Given the description of an element on the screen output the (x, y) to click on. 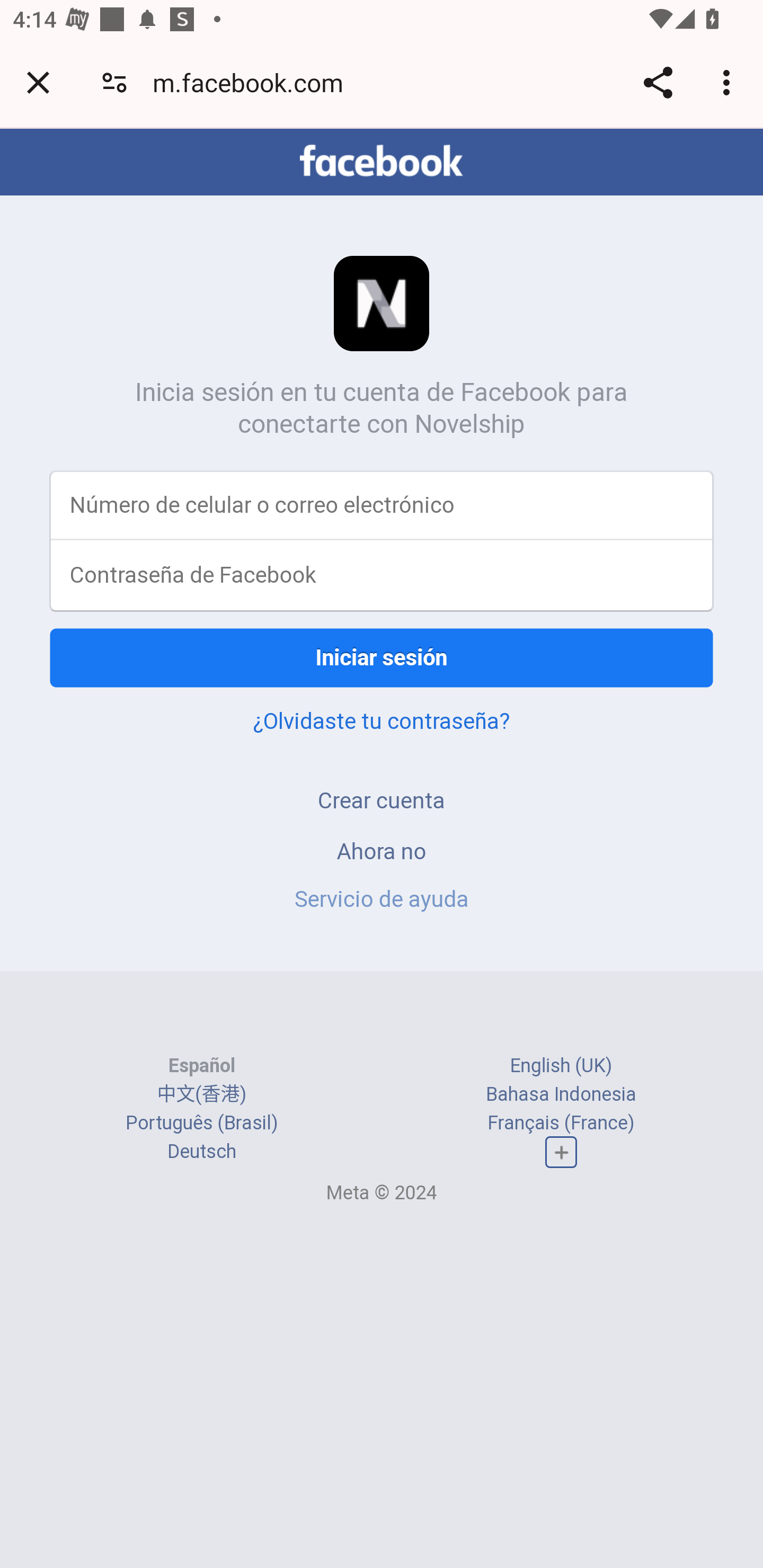
Close tab (38, 82)
Share (657, 82)
Customize and control Google Chrome (729, 82)
Connection is secure (114, 81)
m.facebook.com (254, 81)
facebook (381, 160)
Iniciar sesión (381, 657)
¿Olvidaste tu contraseña? (381, 720)
Crear cuenta (381, 800)
Ahora no (381, 850)
Servicio de ayuda (381, 898)
English (UK) (560, 1065)
中文(香港) (201, 1093)
Bahasa Indonesia (560, 1093)
Português (Brasil) (201, 1122)
Français (France) (560, 1122)
Lista completa de idiomas (560, 1152)
Deutsch (201, 1151)
